Given the description of an element on the screen output the (x, y) to click on. 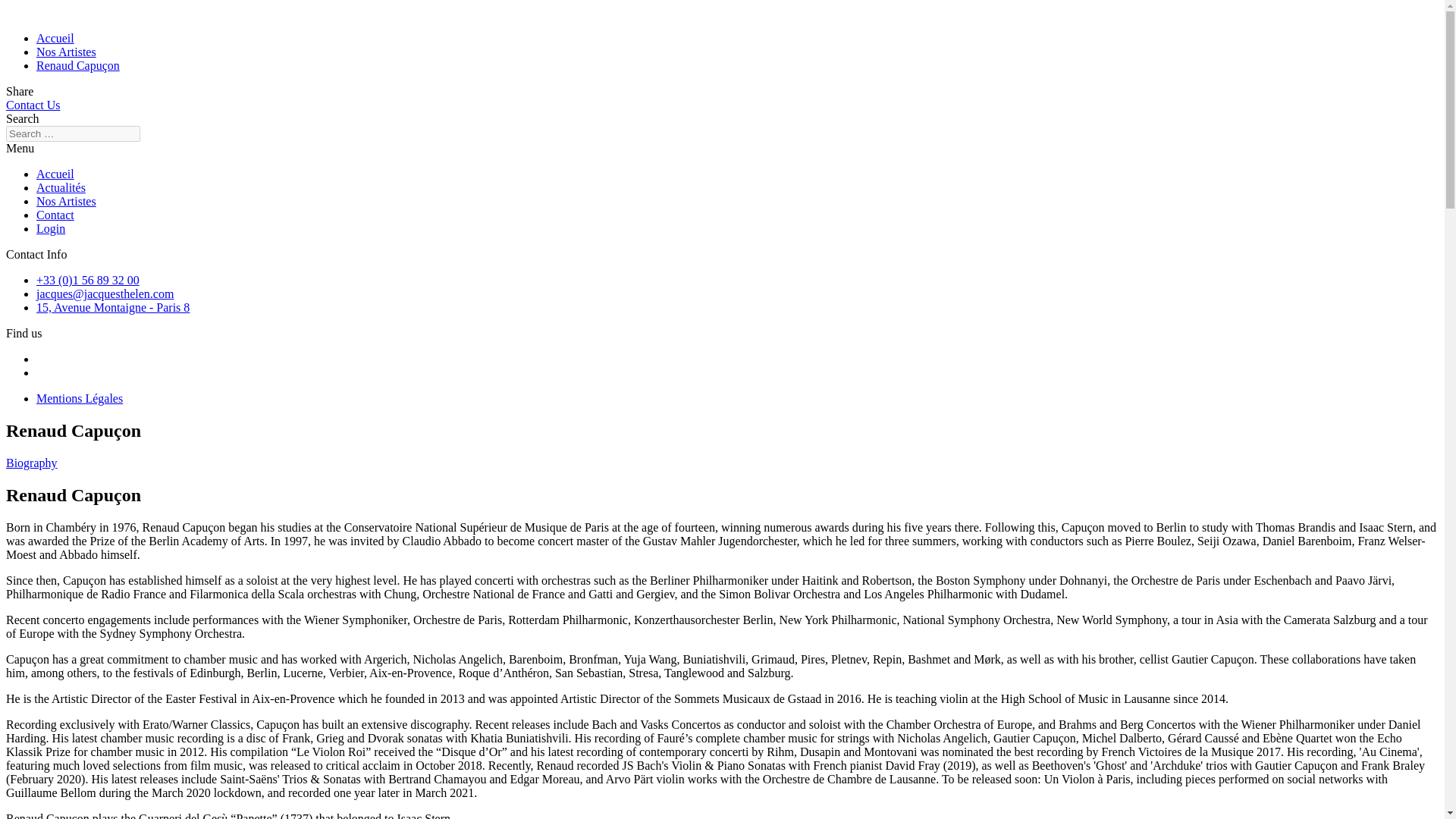
15, Avenue Montaigne - Paris 8 (112, 307)
Biography (31, 462)
Accueil (55, 173)
Biography (31, 462)
Contact (55, 214)
Accueil (55, 38)
Login (50, 228)
Contact Us (33, 104)
Nos Artistes (66, 201)
Nos Artistes (66, 51)
